Given the description of an element on the screen output the (x, y) to click on. 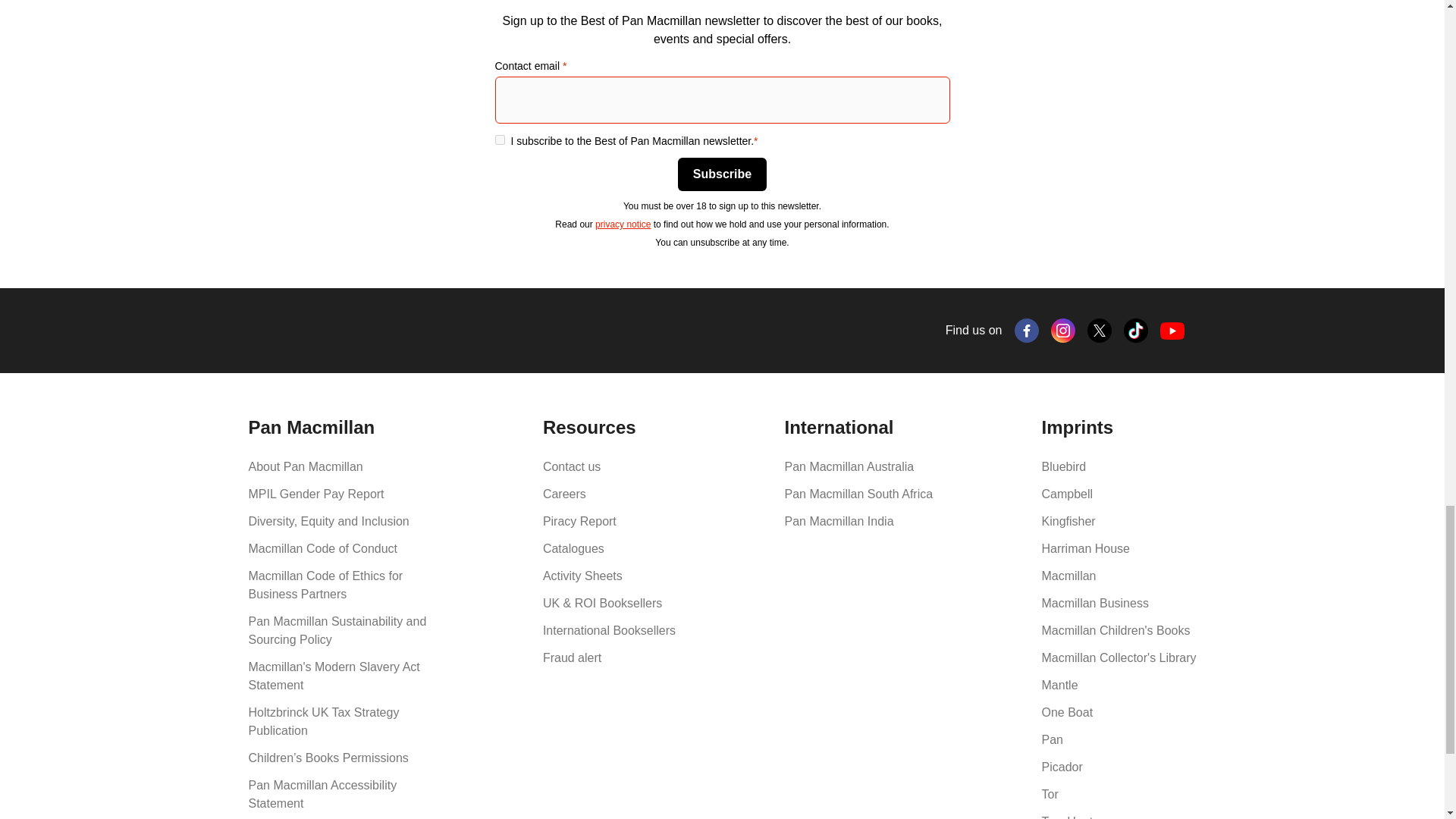
Pan Macmillan Privacy Notice (622, 224)
Facebook (1026, 330)
Subscribe (722, 174)
on (499, 139)
